Given the description of an element on the screen output the (x, y) to click on. 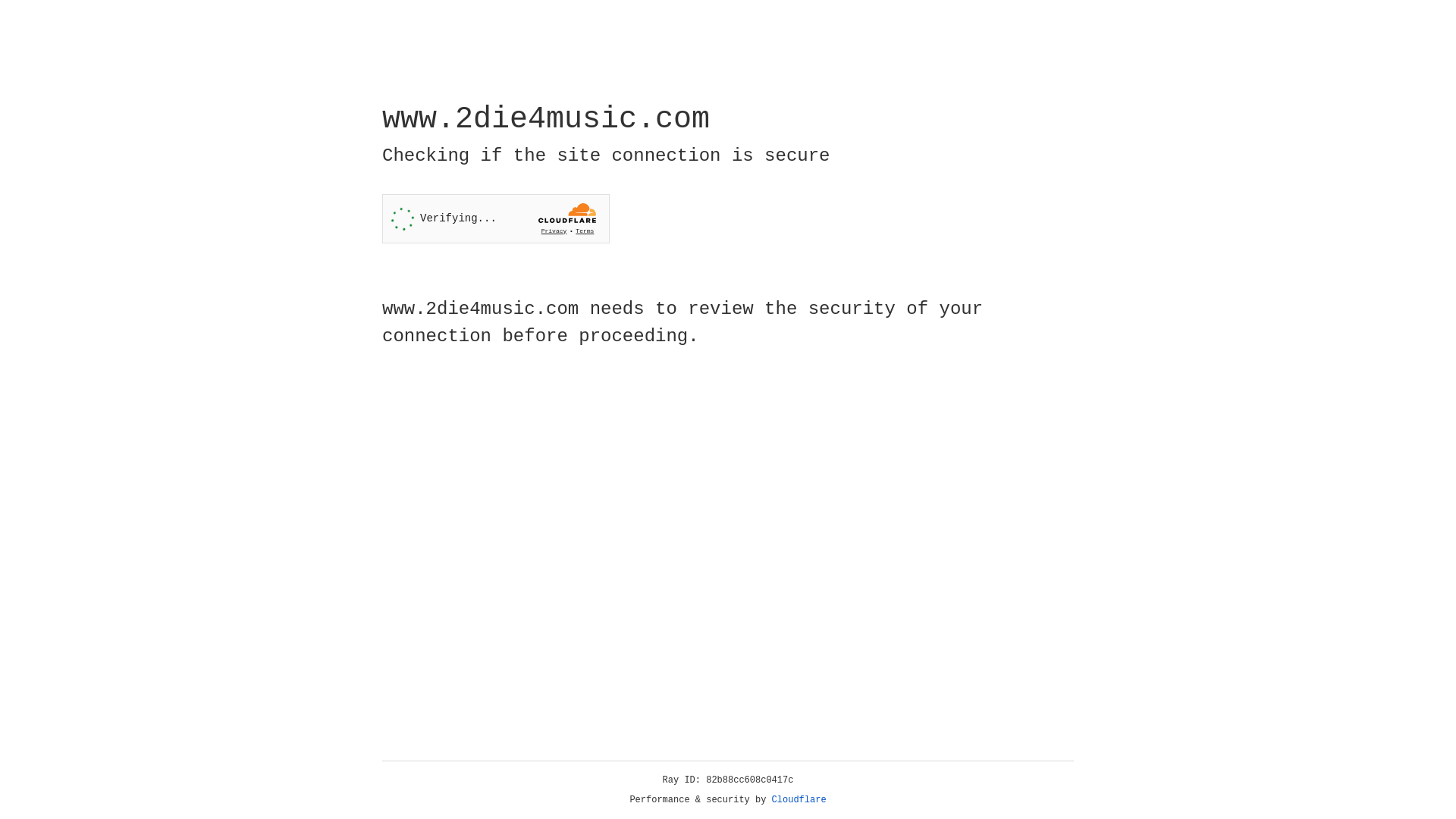
Widget containing a Cloudflare security challenge Element type: hover (495, 218)
Cloudflare Element type: text (798, 799)
